Given the description of an element on the screen output the (x, y) to click on. 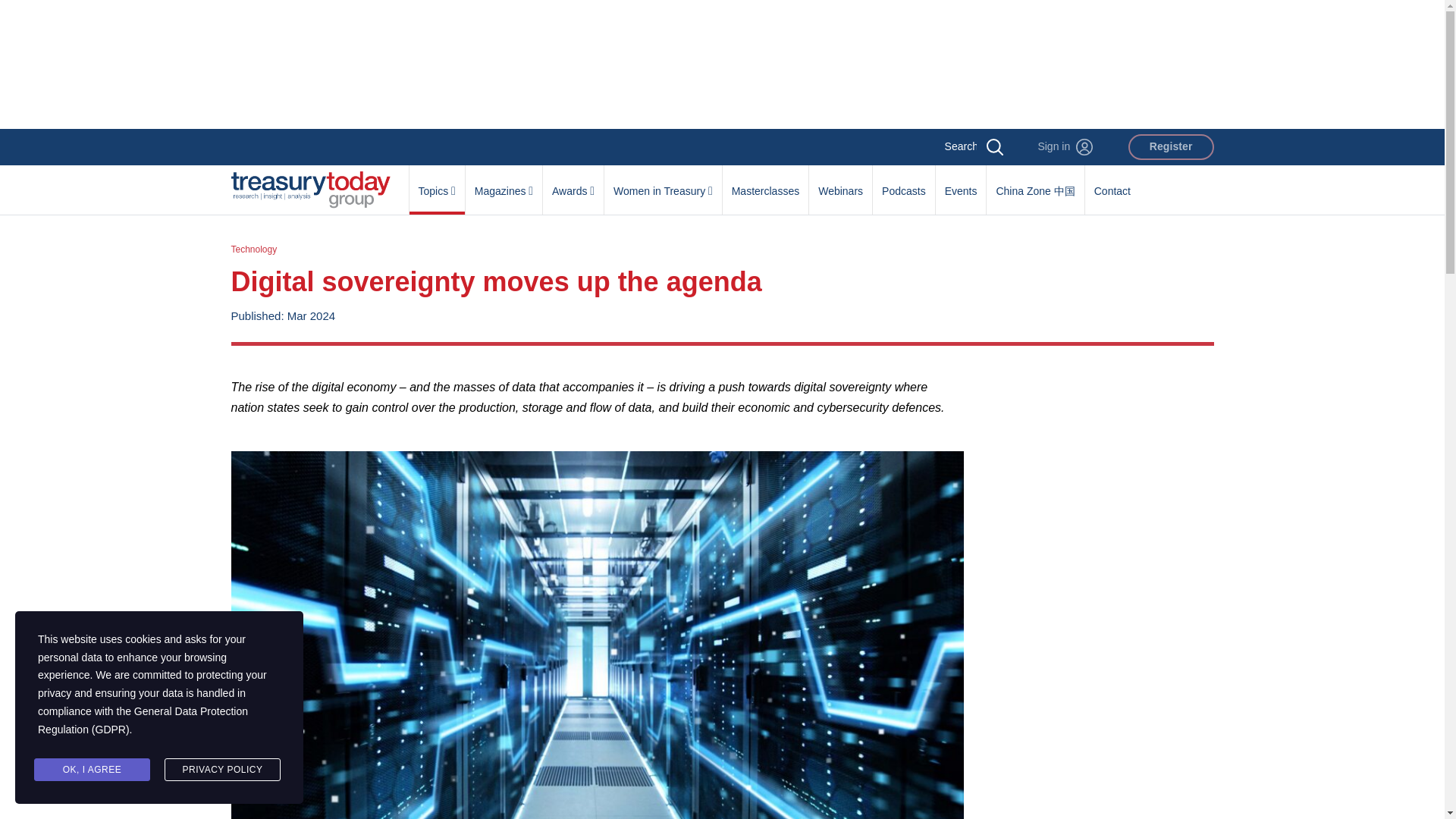
Magazines  (503, 182)
3rd party ad content (721, 63)
Masterclasses (765, 182)
Topics  (436, 182)
Sign in (1064, 146)
Webinars (840, 182)
3rd party ad content (1097, 708)
Women in Treasury  (663, 182)
Awards  (573, 182)
Register (1171, 146)
3rd party ad content (1097, 471)
